Given the description of an element on the screen output the (x, y) to click on. 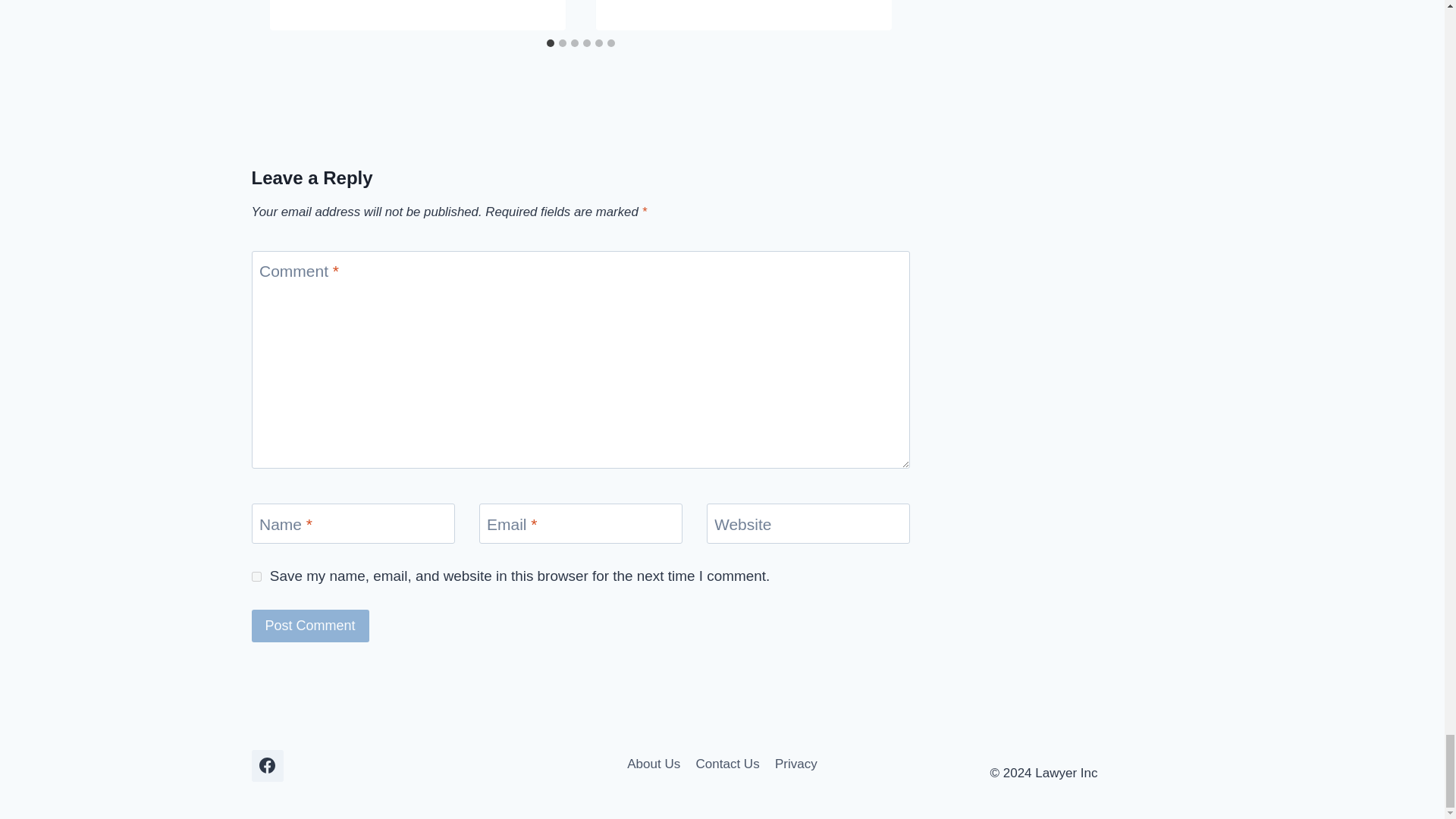
yes (256, 576)
Post Comment (310, 625)
